Given the description of an element on the screen output the (x, y) to click on. 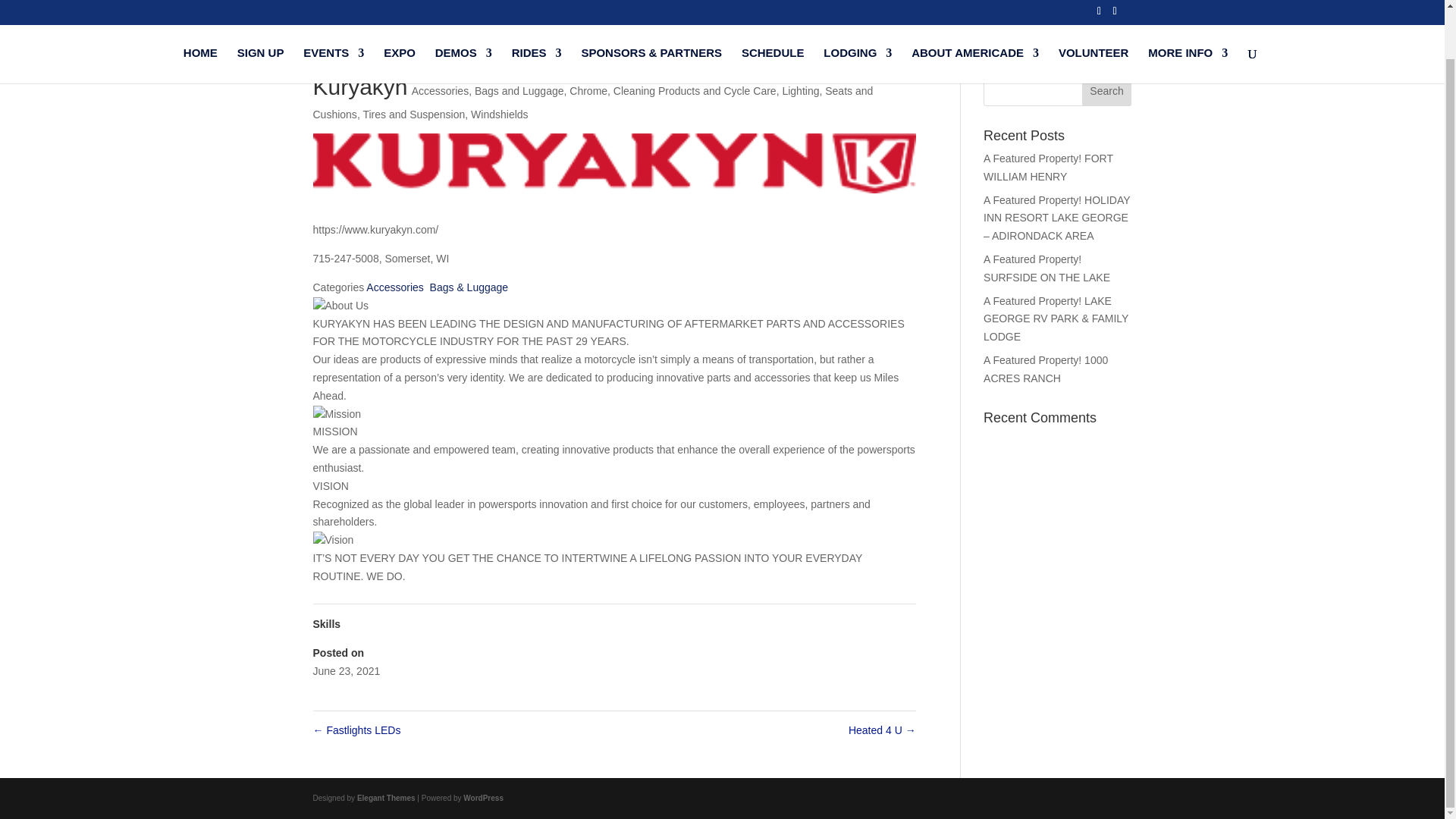
Premium WordPress Themes (385, 797)
DEMOS (463, 15)
Search (1106, 91)
EXPO (399, 15)
HOME (199, 15)
EVENTS (333, 15)
SIGN UP (260, 15)
